Given the description of an element on the screen output the (x, y) to click on. 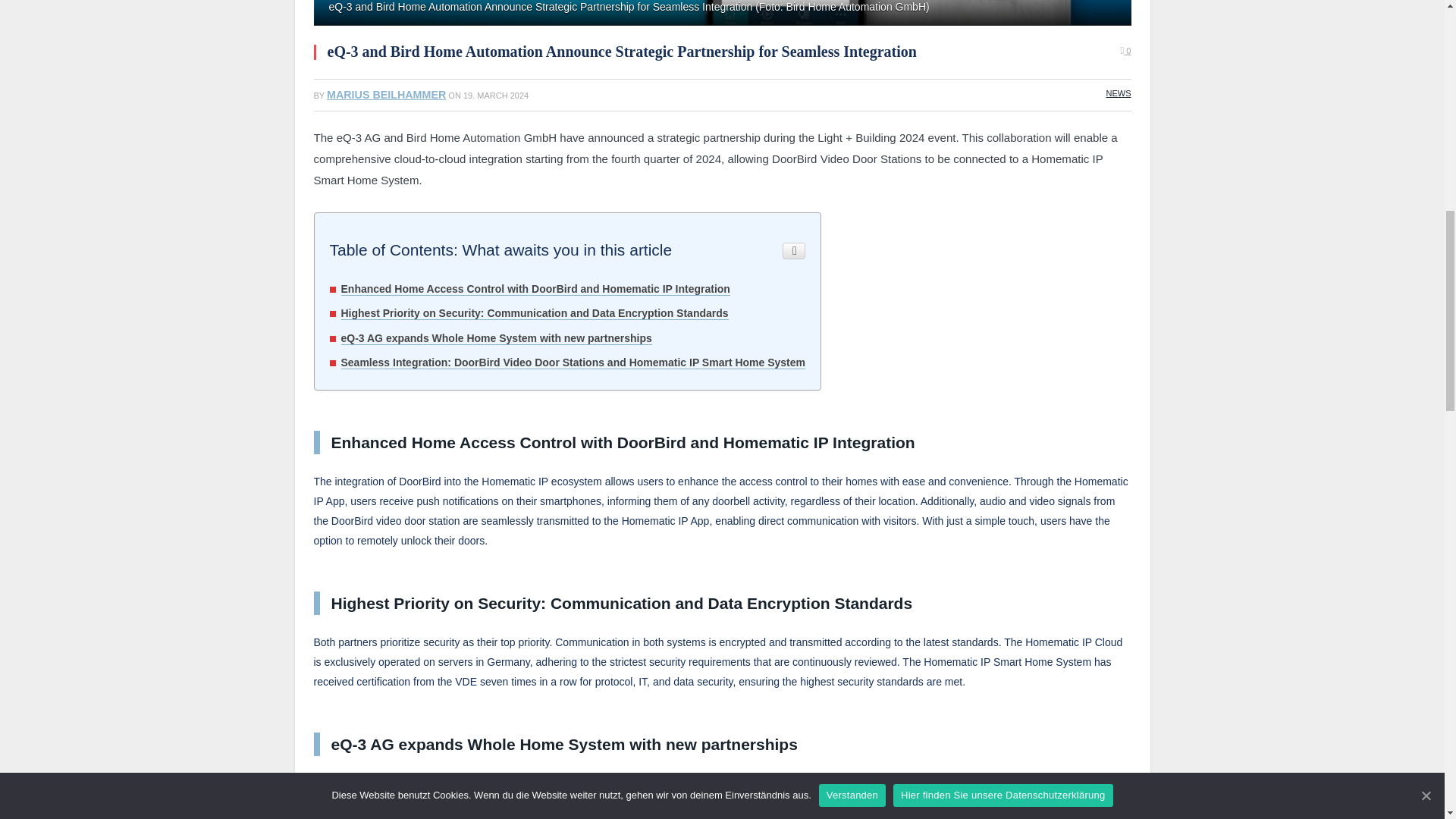
2024-03-19 (495, 94)
Posts by Marius Beilhammer (385, 94)
eQ-3 AG expands Whole Home System with new partnerships (496, 338)
